Given the description of an element on the screen output the (x, y) to click on. 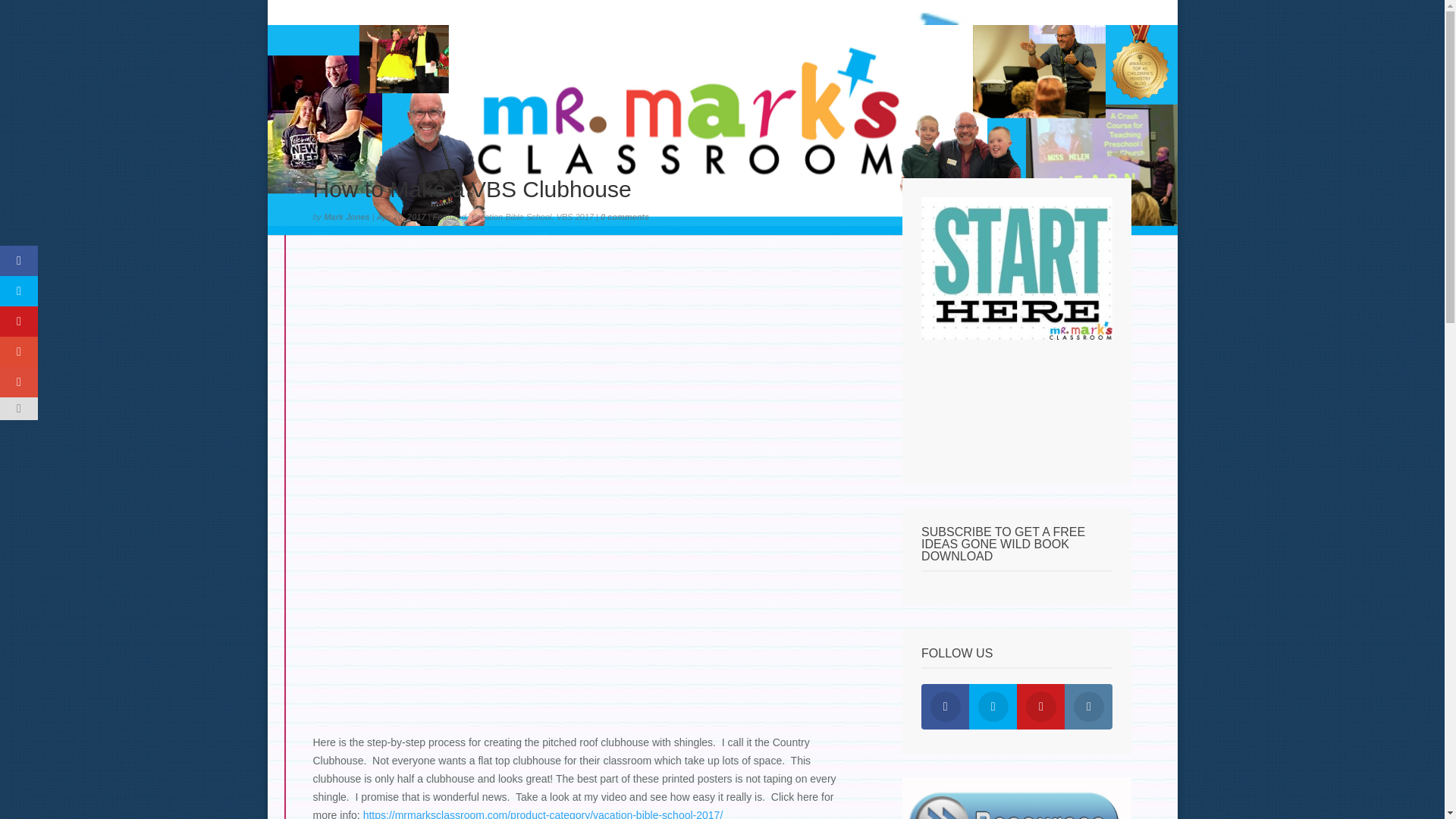
Shop (899, 14)
Resources (724, 14)
VBS 2017 (575, 216)
Mark Jones (346, 216)
Posts by Mark Jones (346, 216)
My Account (964, 14)
Vacation Bible School (510, 216)
0 comments (624, 216)
Featured (448, 216)
